Given the description of an element on the screen output the (x, y) to click on. 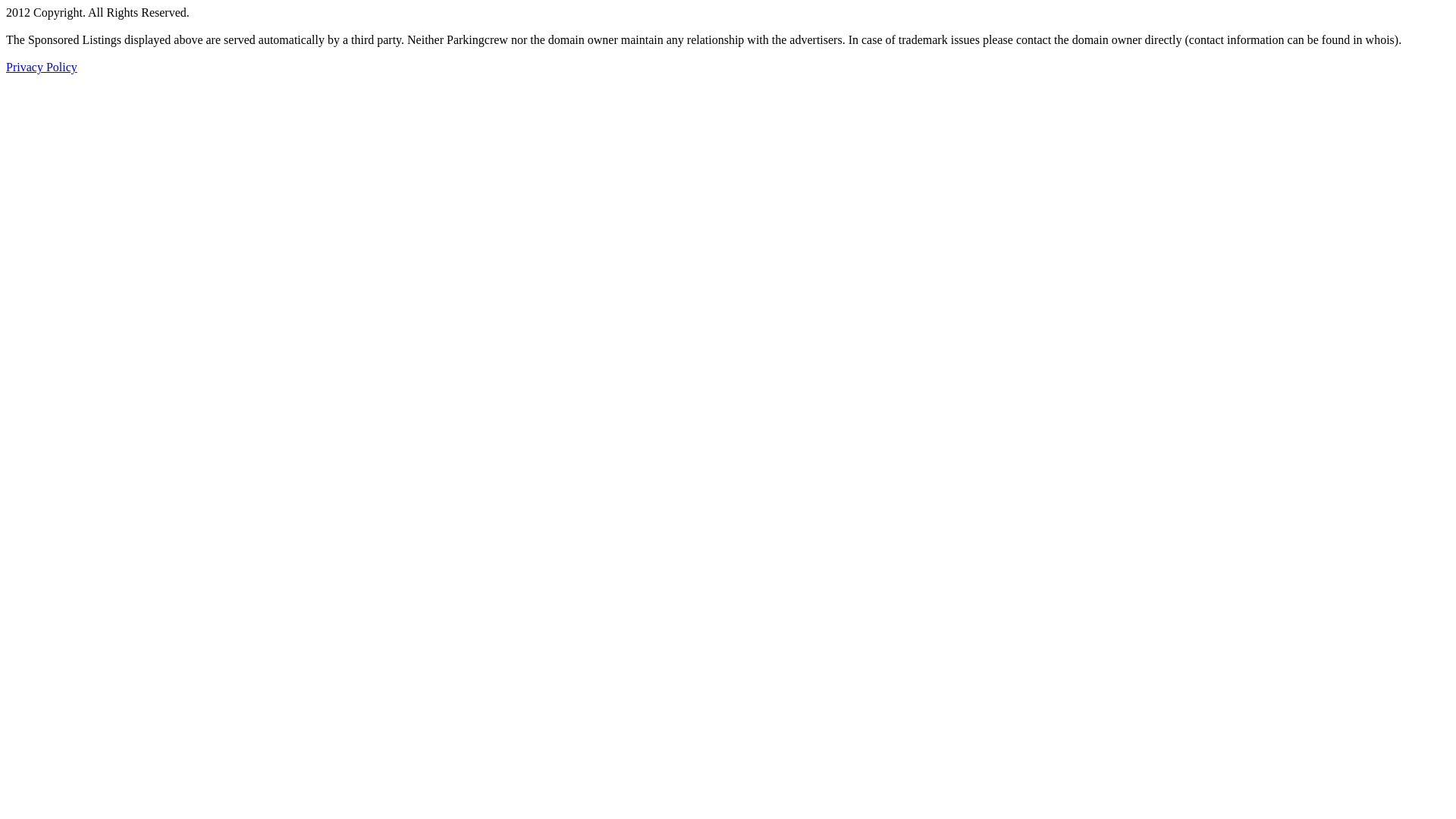
Privacy Policy Element type: text (41, 66)
